Given the description of an element on the screen output the (x, y) to click on. 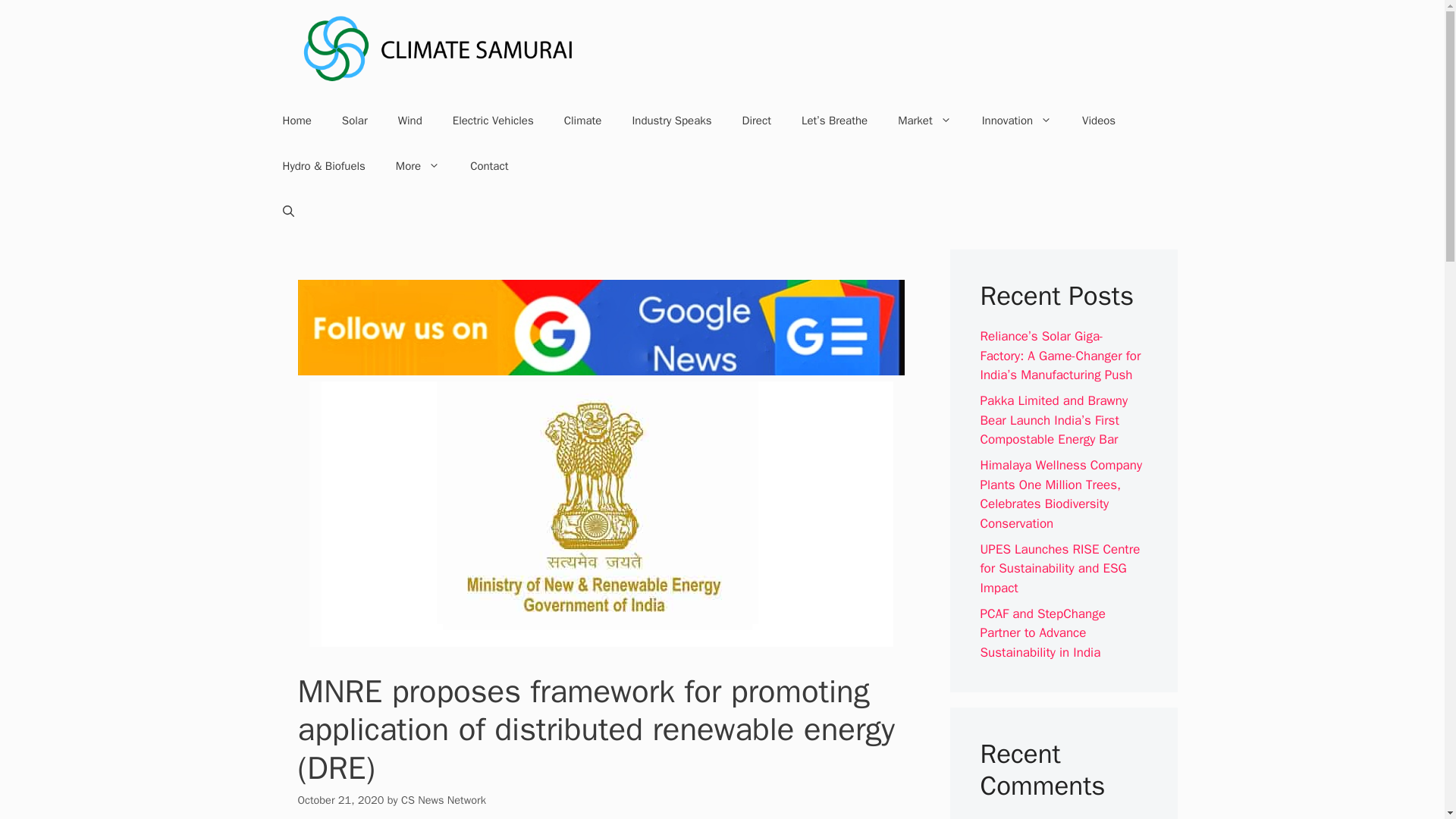
More (417, 166)
Electric Vehicles (493, 120)
Solar (354, 120)
View all posts by CS News Network (443, 799)
Contact (488, 166)
Industry Speaks (670, 120)
Videos (1099, 120)
CS News Network (443, 799)
Climate Samurai (438, 48)
Climate (582, 120)
